Given the description of an element on the screen output the (x, y) to click on. 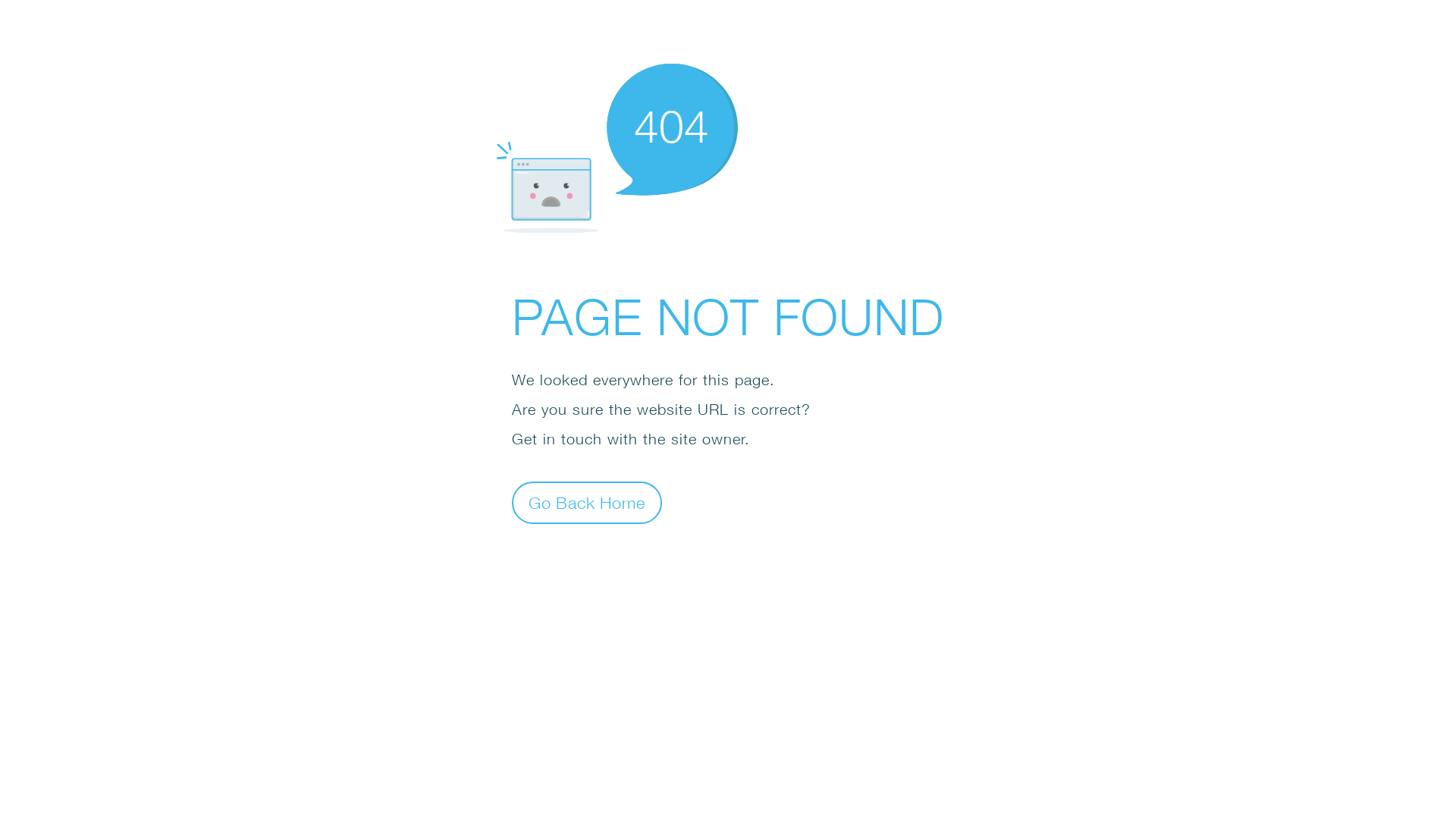
Go Back Home Element type: text (586, 502)
